Given the description of an element on the screen output the (x, y) to click on. 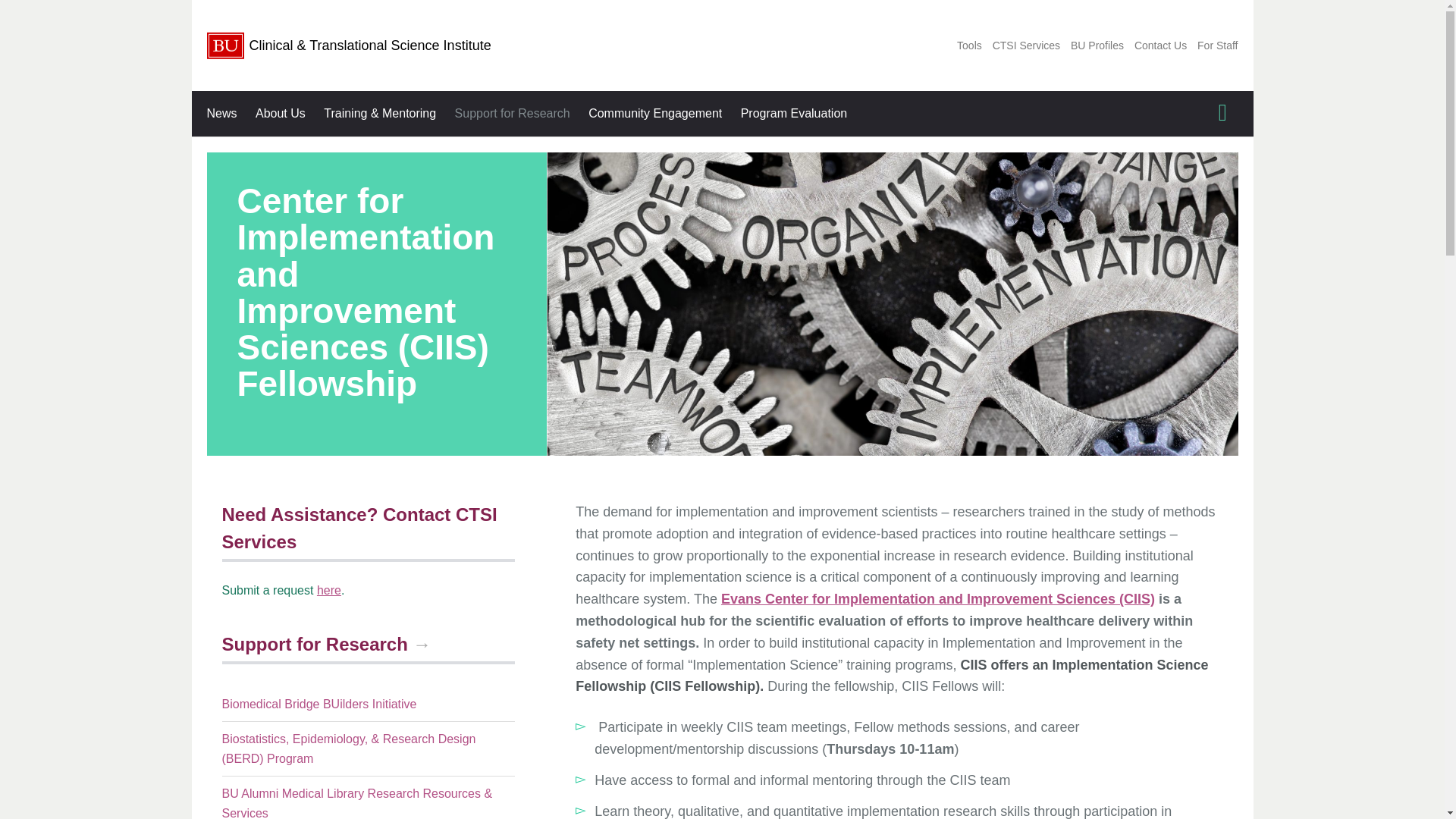
Tools (968, 45)
Navigate to: Biomedical Bridge BUilders Initiative (368, 704)
CTSI Services (1025, 45)
here (328, 590)
About Us (280, 113)
Support for Research (325, 643)
Navigate to: Support for Research (512, 113)
Navigate to: Community Engagement (654, 113)
Navigate to: About Us (280, 113)
Support for Research (512, 113)
News (221, 113)
Biomedical Bridge BUilders Initiative (368, 704)
Program Evaluation (794, 113)
Navigate to: Program Evaluation  (794, 113)
Navigate to: News (221, 113)
